Given the description of an element on the screen output the (x, y) to click on. 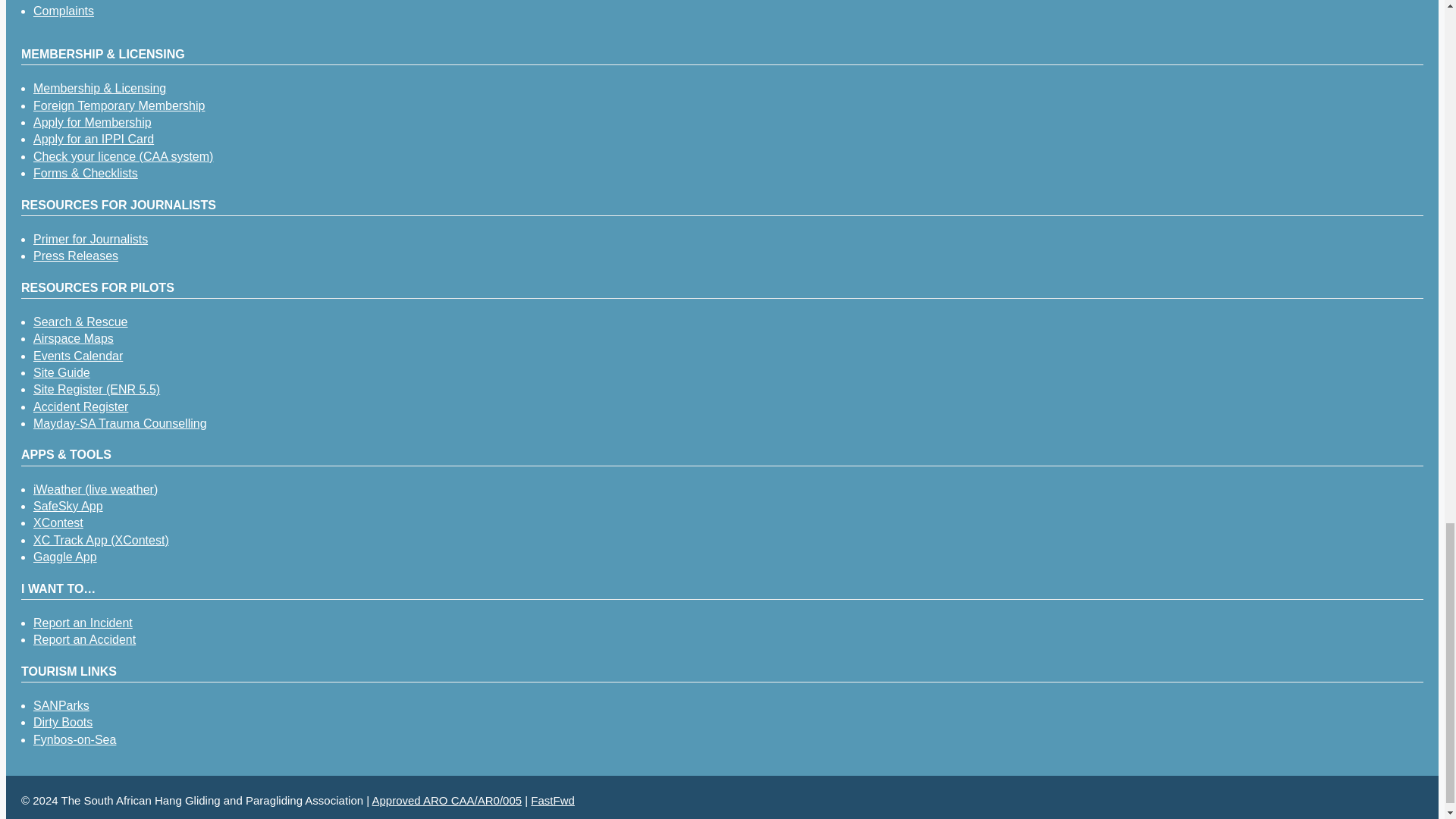
Scroll back to top (1406, 38)
